Given the description of an element on the screen output the (x, y) to click on. 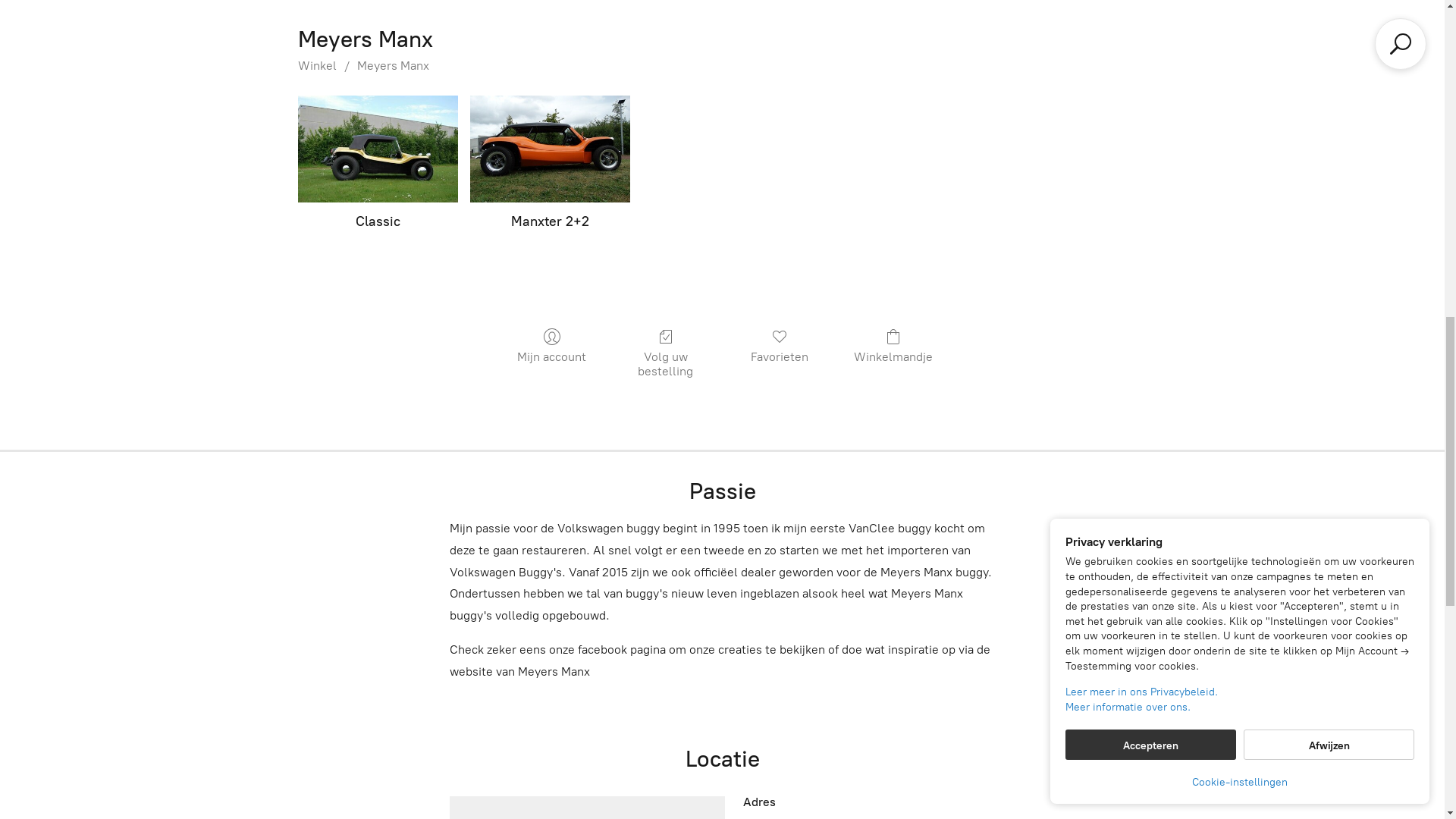
Naar de webshop Element type: text (722, 758)
Contact Element type: text (276, 26)
Over ons Element type: text (124, 26)
Locatie Element type: text (201, 26)
Winkel Element type: text (49, 26)
